Given the description of an element on the screen output the (x, y) to click on. 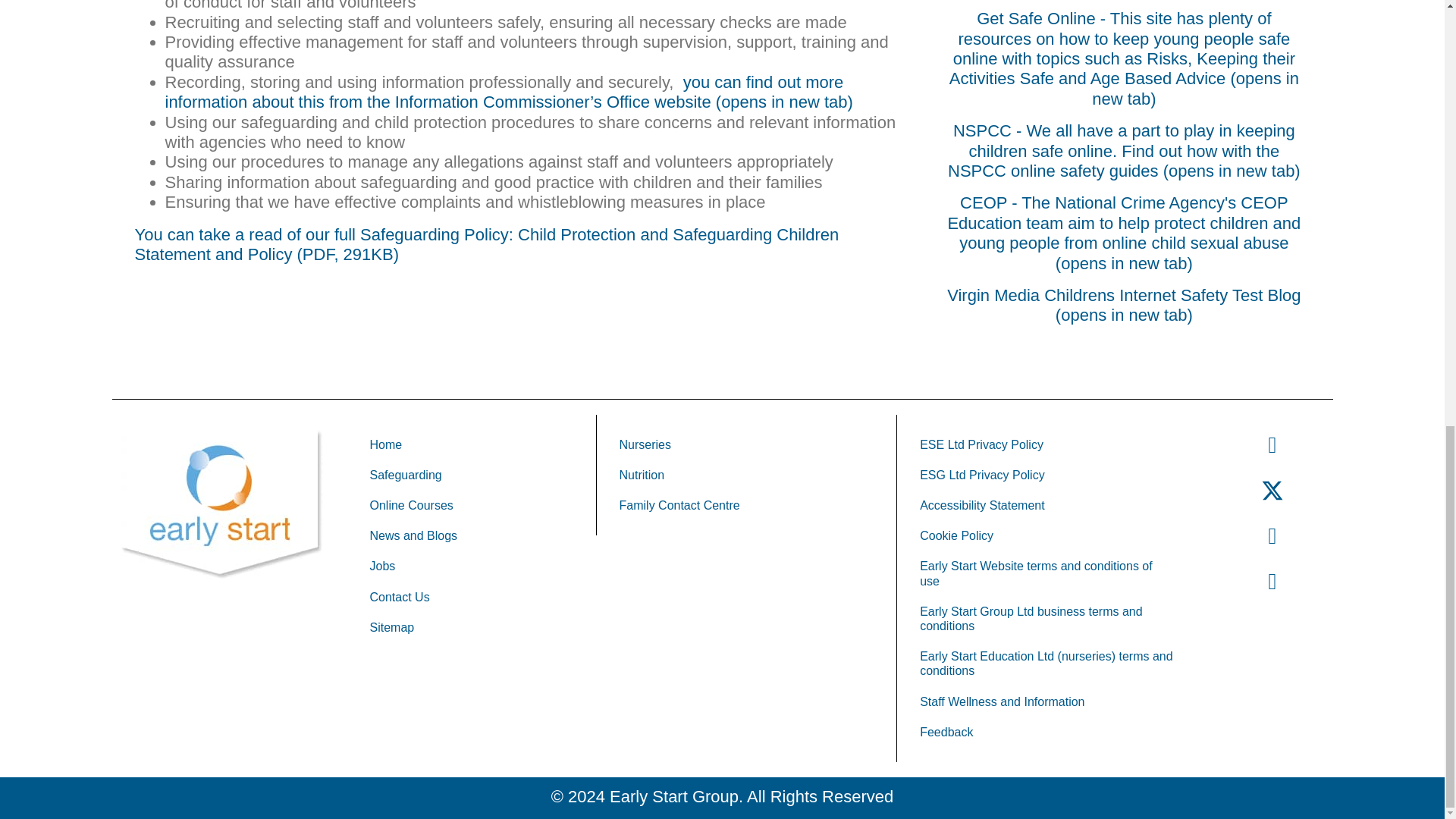
ESG Logo Group (221, 504)
Safeguarding (471, 474)
Instagram (1272, 535)
Facebook (1272, 444)
